Given the description of an element on the screen output the (x, y) to click on. 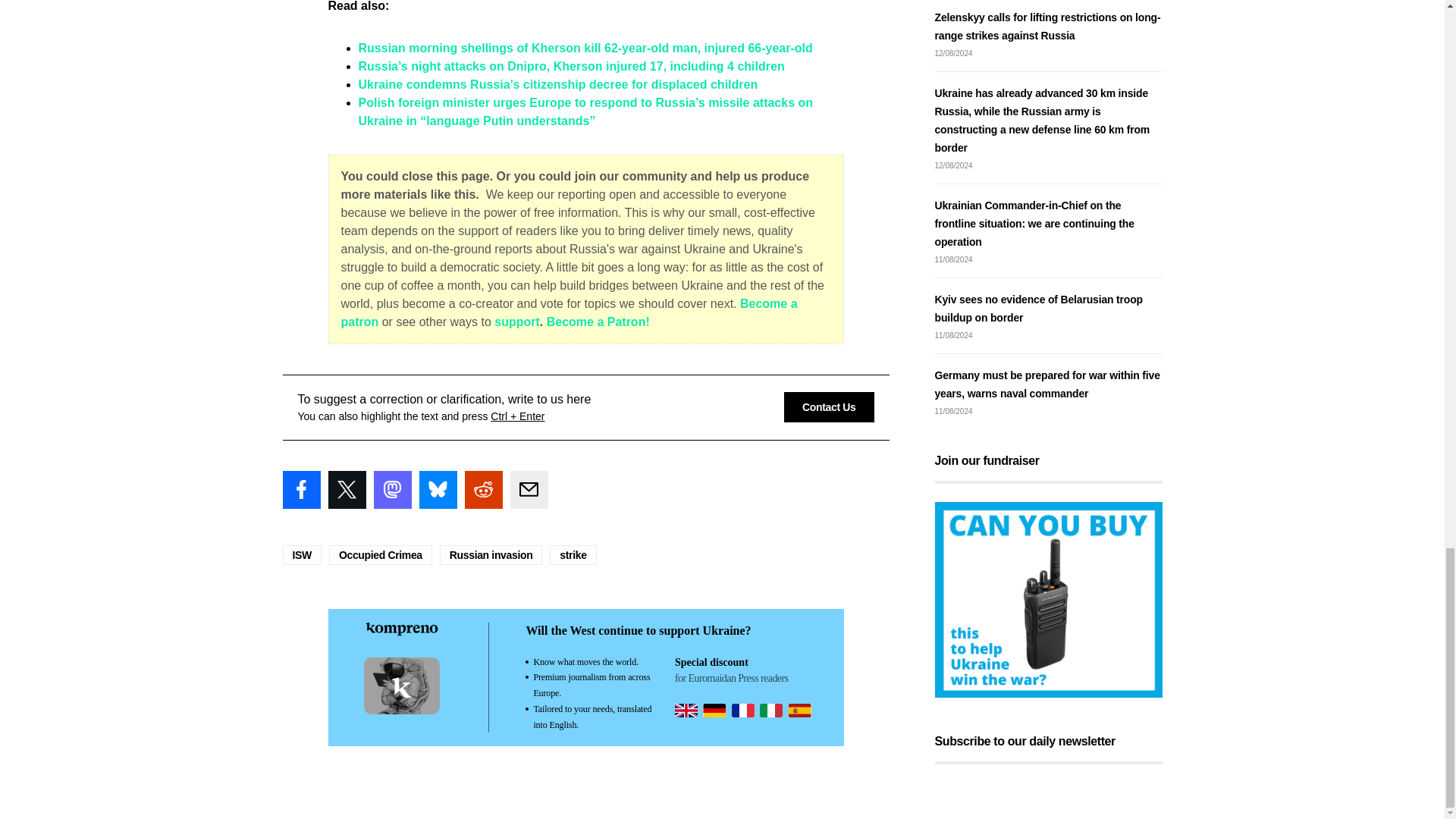
Share to Bluesky (438, 489)
Share to Twitter (346, 489)
Share to Reddit (483, 489)
Share to Mastodon (391, 489)
Share to Facebook (301, 489)
Share to Email (528, 489)
